Given the description of an element on the screen output the (x, y) to click on. 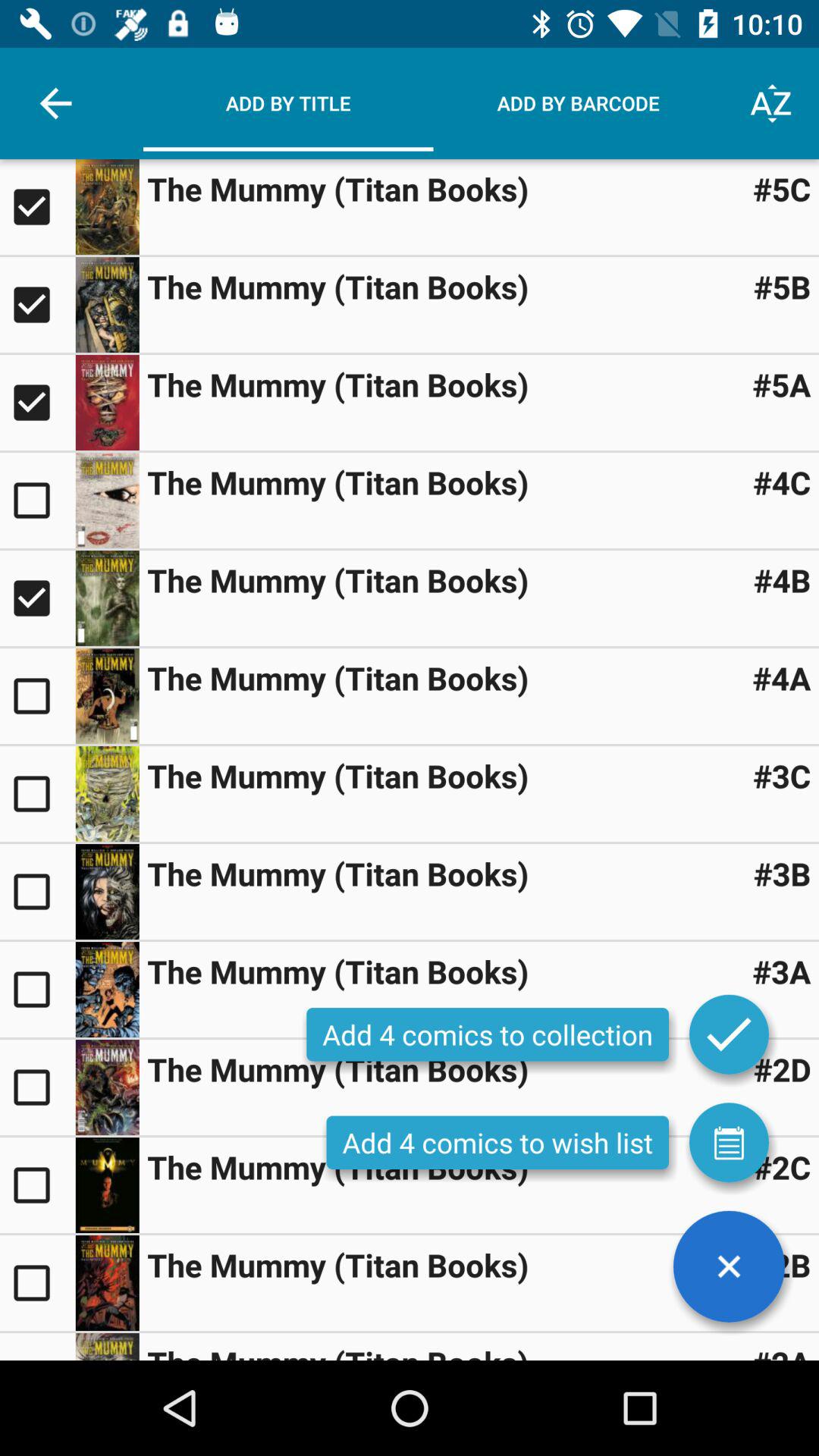
display larger image of book cover (107, 598)
